Given the description of an element on the screen output the (x, y) to click on. 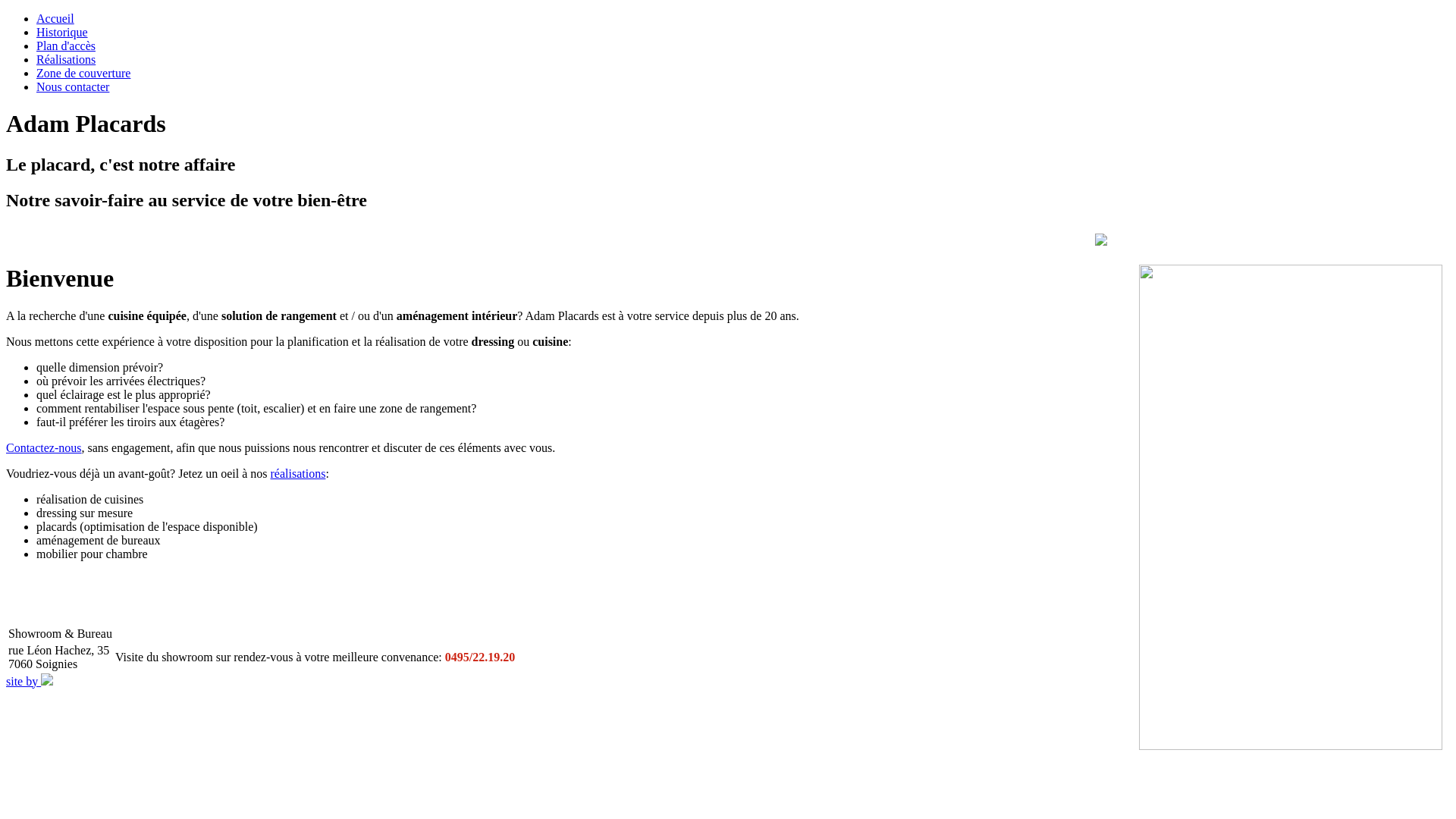
Zone de couverture Element type: text (83, 72)
Accueil Element type: text (55, 18)
site by Element type: text (29, 680)
Historique Element type: text (61, 31)
Nous contacter Element type: text (72, 86)
Contactez-nous Element type: text (43, 447)
